Given the description of an element on the screen output the (x, y) to click on. 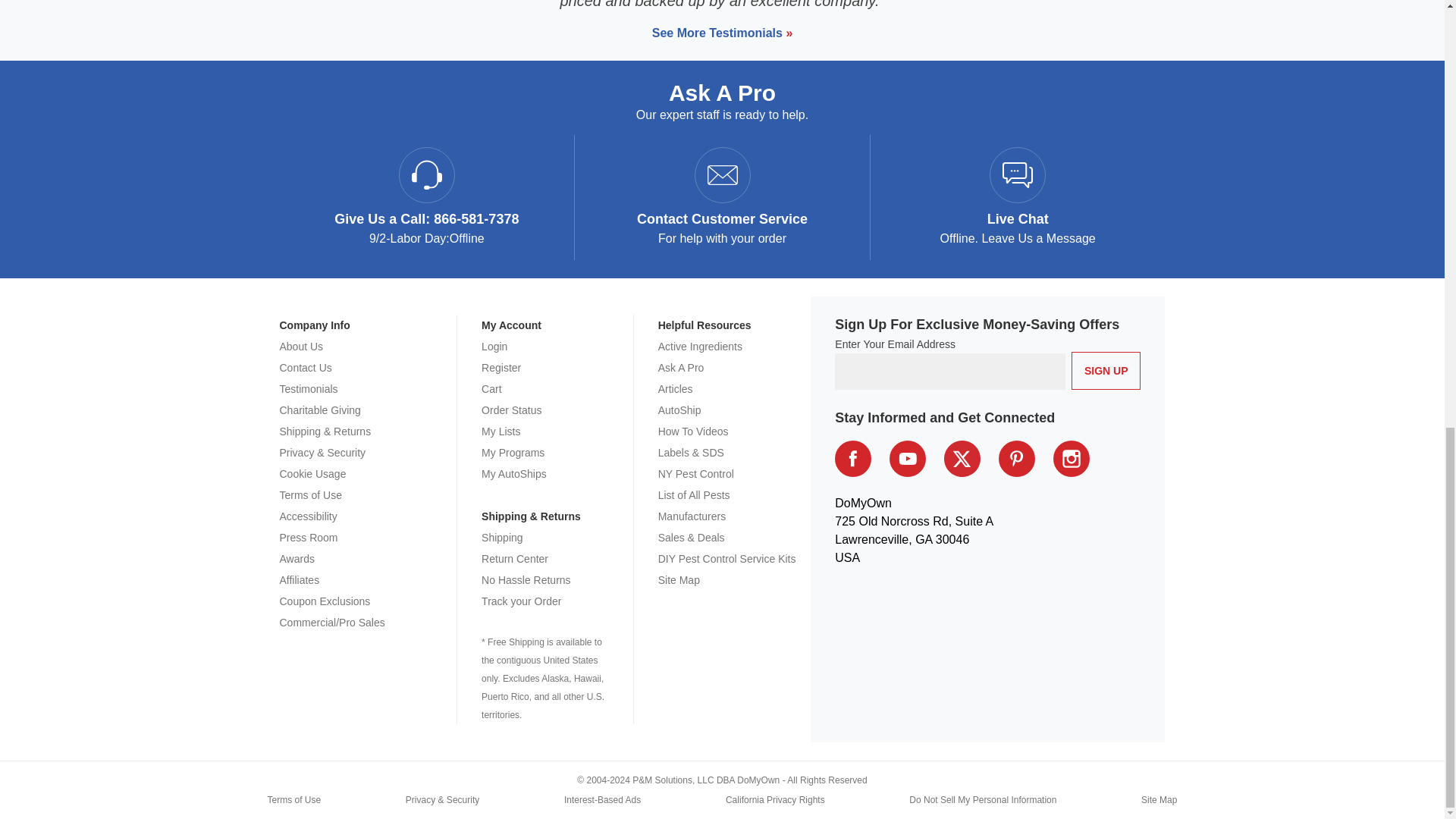
Sign Up (1106, 370)
Live Chat (1017, 219)
Contact Customer Service (722, 218)
Contact Customer Service (721, 173)
Live Chat (1017, 174)
